Given the description of an element on the screen output the (x, y) to click on. 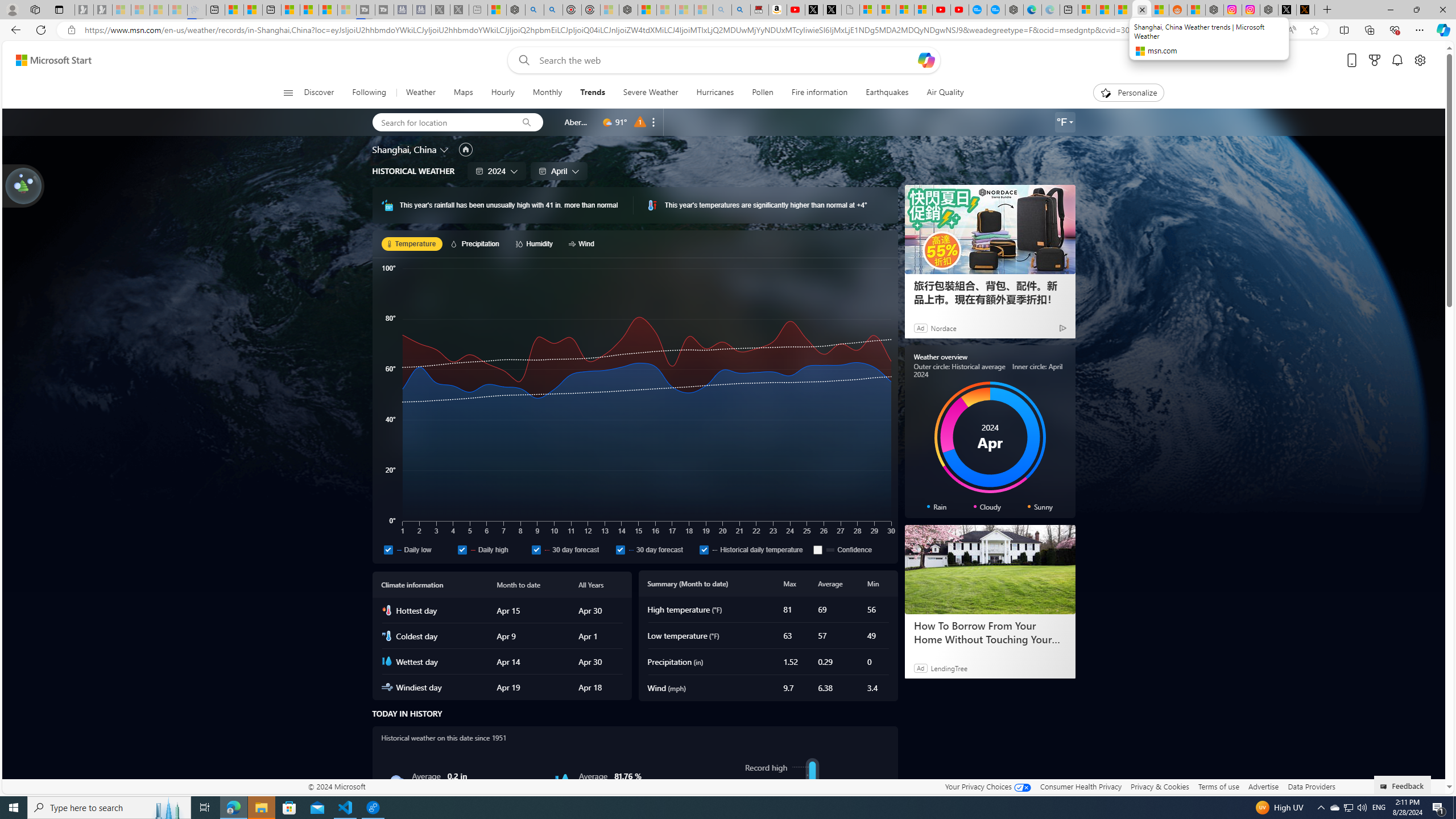
Join us in planting real trees to help our planet! (23, 184)
Amazon Echo Dot PNG - Search Images (740, 9)
